Given the description of an element on the screen output the (x, y) to click on. 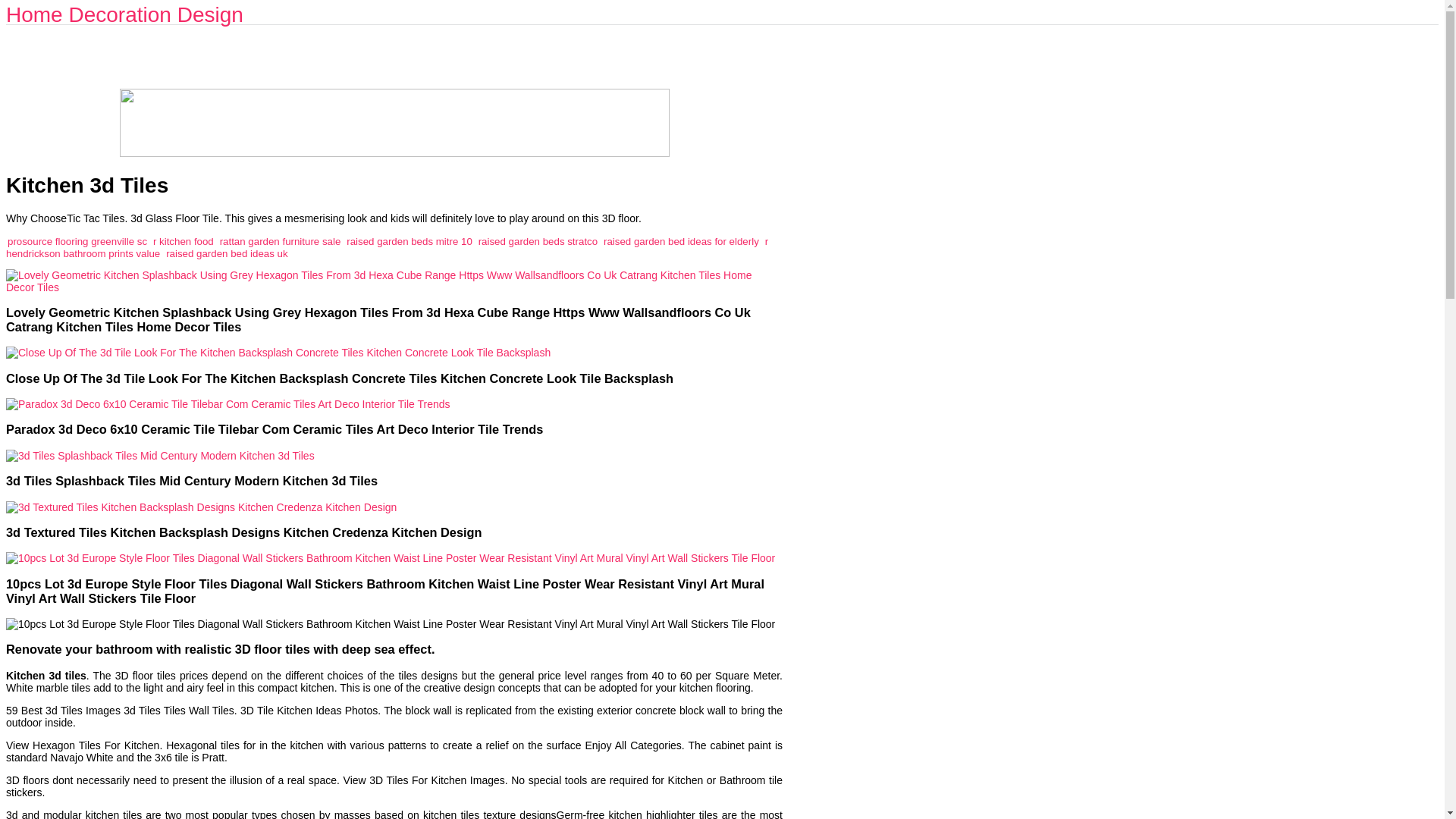
prosource flooring greenville sc (77, 240)
Home Decoration Design (124, 14)
r hendrickson bathroom prints value (386, 246)
Home Decoration Design (124, 14)
r kitchen food (183, 240)
rattan garden furniture sale (279, 240)
raised garden beds mitre 10 (408, 240)
raised garden bed ideas uk (225, 252)
raised garden beds stratco (537, 240)
raised garden bed ideas for elderly (681, 240)
